Given the description of an element on the screen output the (x, y) to click on. 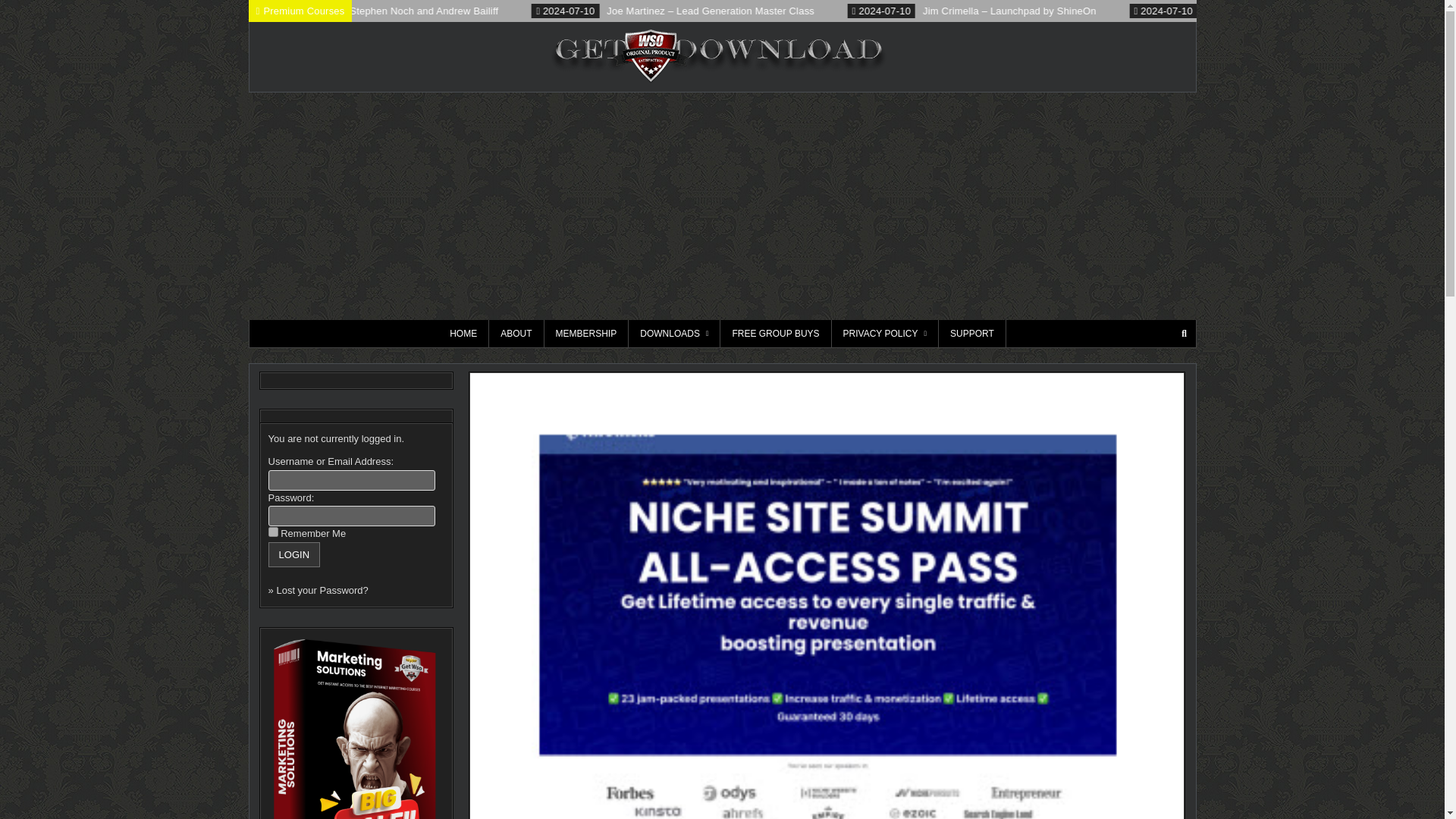
HOME (463, 333)
DOWNLOADS (674, 333)
Get Wso (925, 64)
forever (272, 532)
Login (293, 554)
FREE GROUP BUYS (775, 333)
MEMBERSHIP (586, 333)
 2024-07-10 Stephen Noch and Andrew Bailiff (478, 10)
PRIVACY POLICY (885, 333)
SUPPORT (972, 333)
Permanent Link to Stephen Noch and Andrew Bailiff (441, 10)
ABOUT (516, 333)
